Given the description of an element on the screen output the (x, y) to click on. 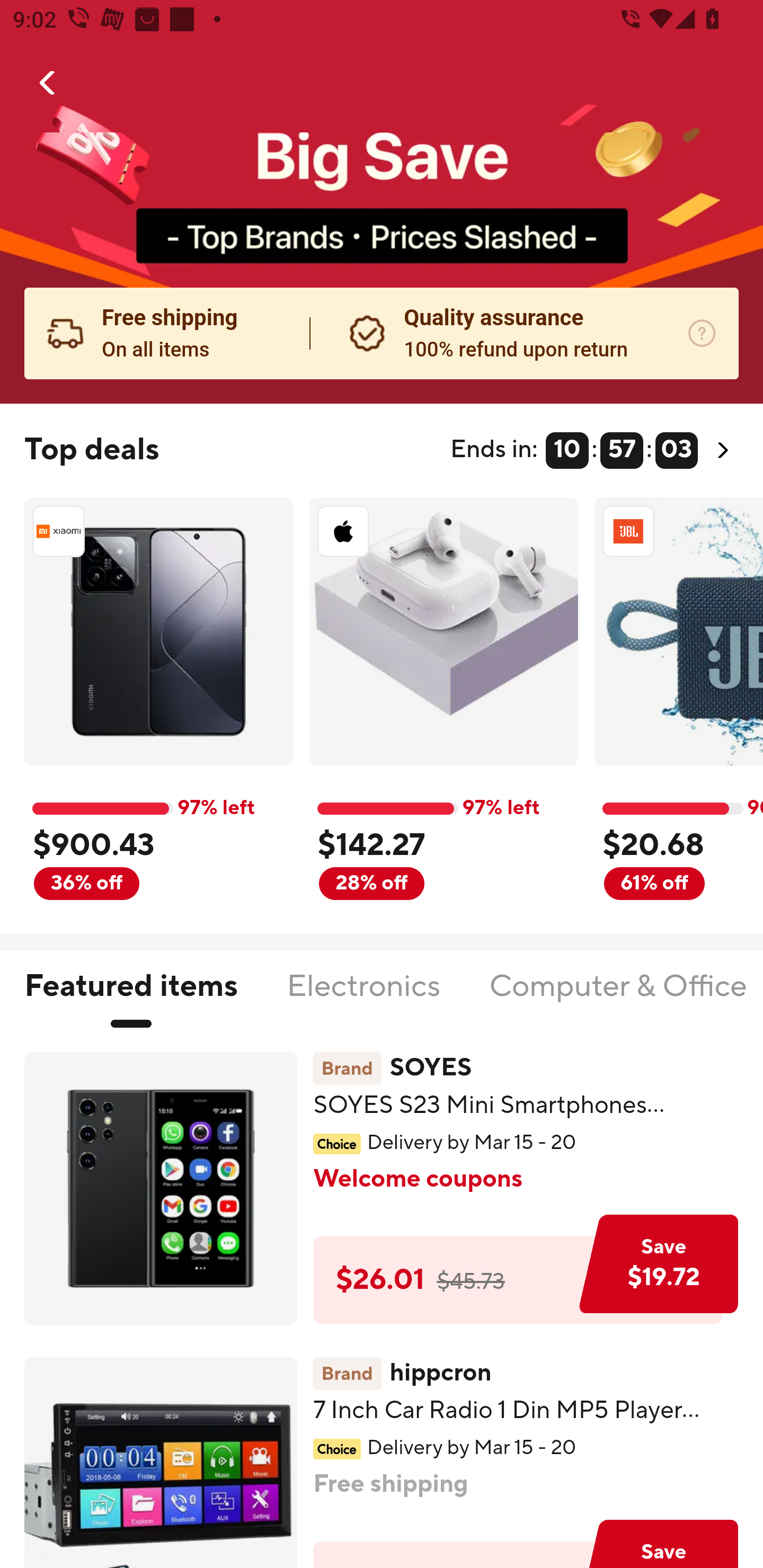
 (48, 82)
Featured items (130, 996)
Electronics (363, 996)
Computer & Office (617, 996)
